Given the description of an element on the screen output the (x, y) to click on. 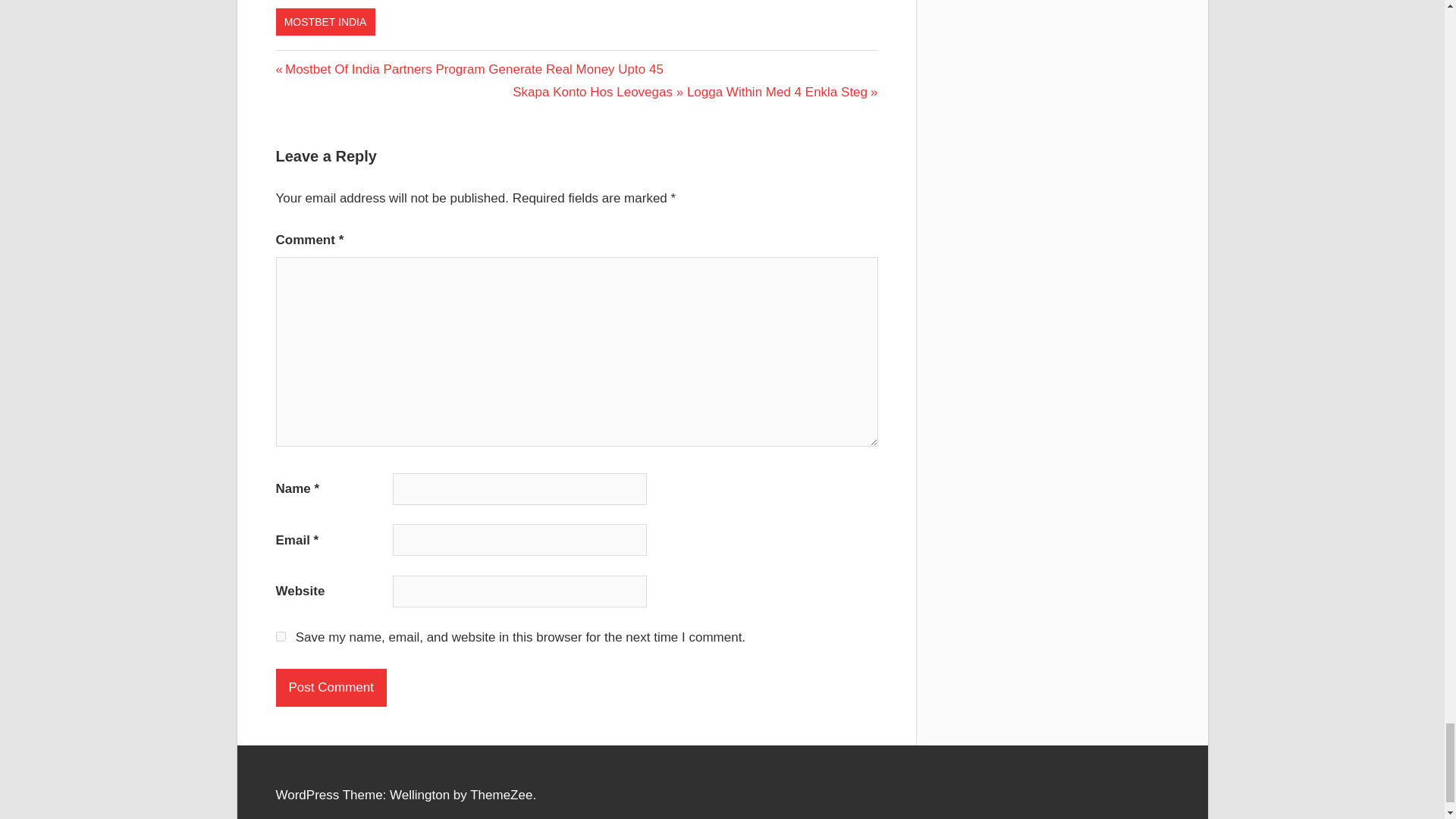
yes (280, 636)
Post Comment (331, 687)
